Given the description of an element on the screen output the (x, y) to click on. 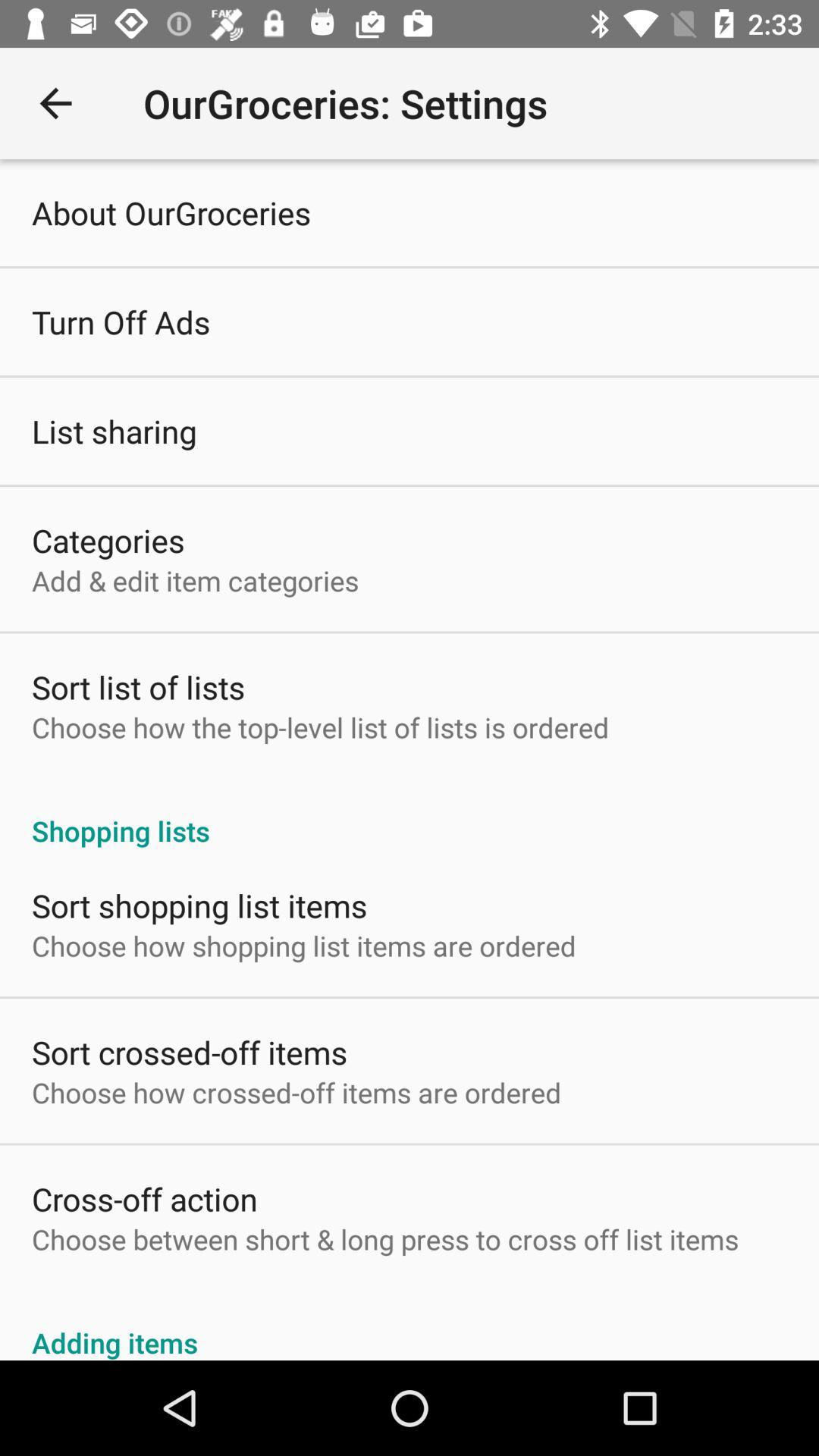
press the list sharing icon (113, 430)
